Given the description of an element on the screen output the (x, y) to click on. 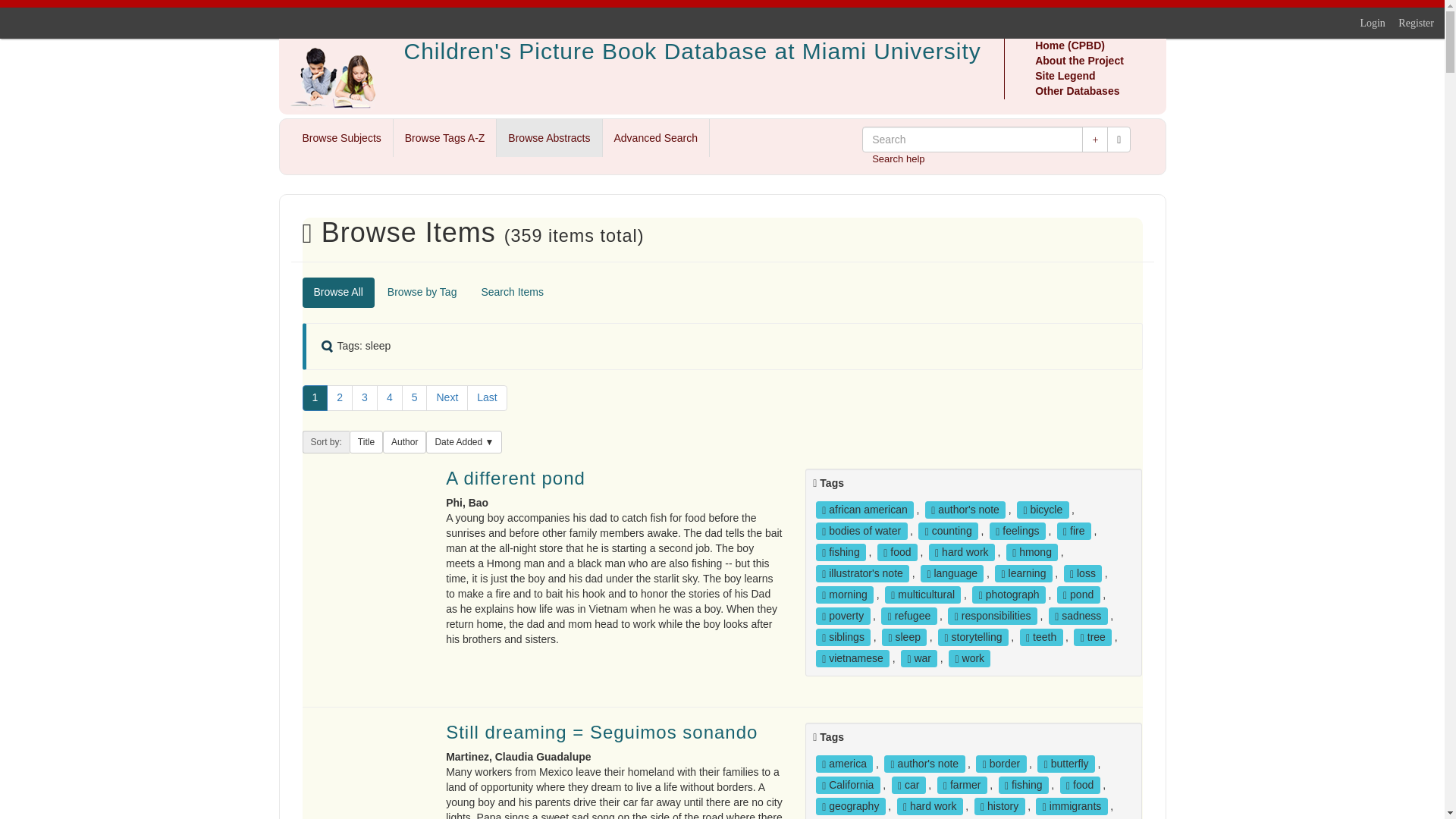
Last (486, 397)
Browse by Tag (421, 292)
Search (972, 139)
Date Added (464, 441)
Other Databases (1077, 91)
3 (364, 397)
Search help (898, 158)
Author (404, 441)
bicycle (1042, 509)
Title (365, 441)
Sort ascending (404, 441)
4 (390, 397)
Next (446, 397)
Search (1118, 139)
Browse Tags A-Z (444, 137)
